Given the description of an element on the screen output the (x, y) to click on. 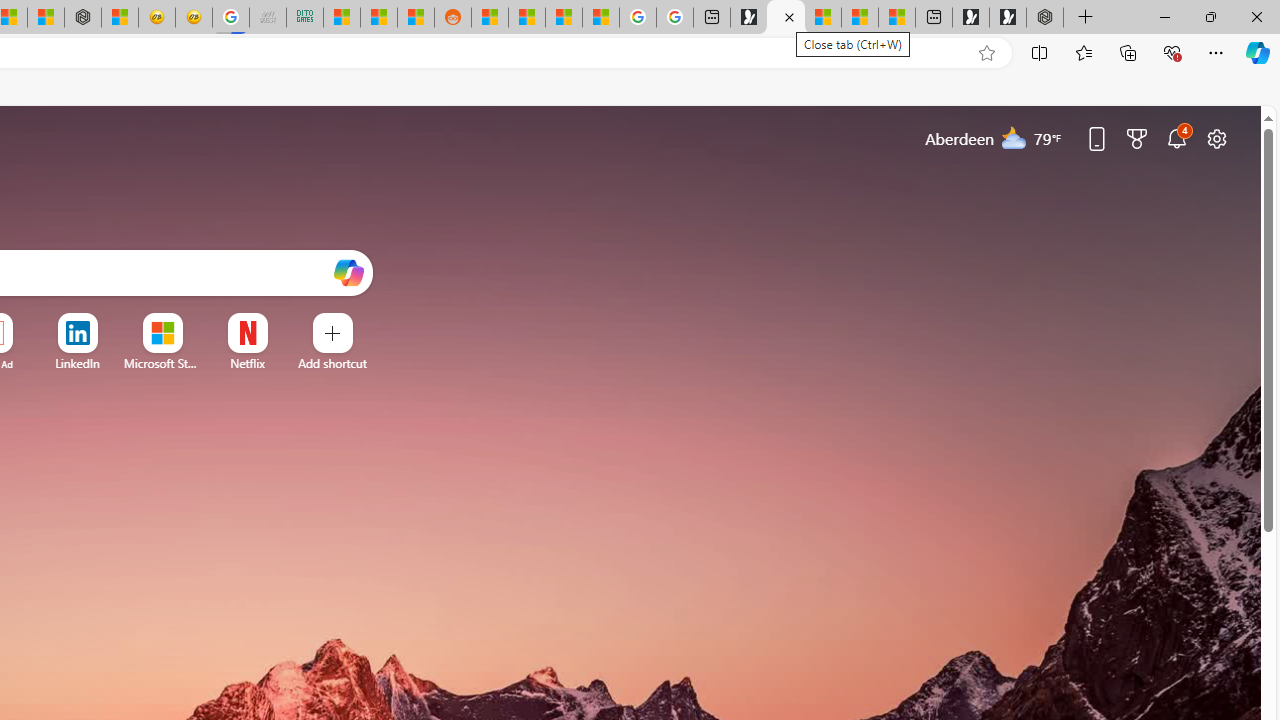
R******* | Trusted Community Engagement and Contributions (490, 17)
Add a site (332, 363)
